Given the description of an element on the screen output the (x, y) to click on. 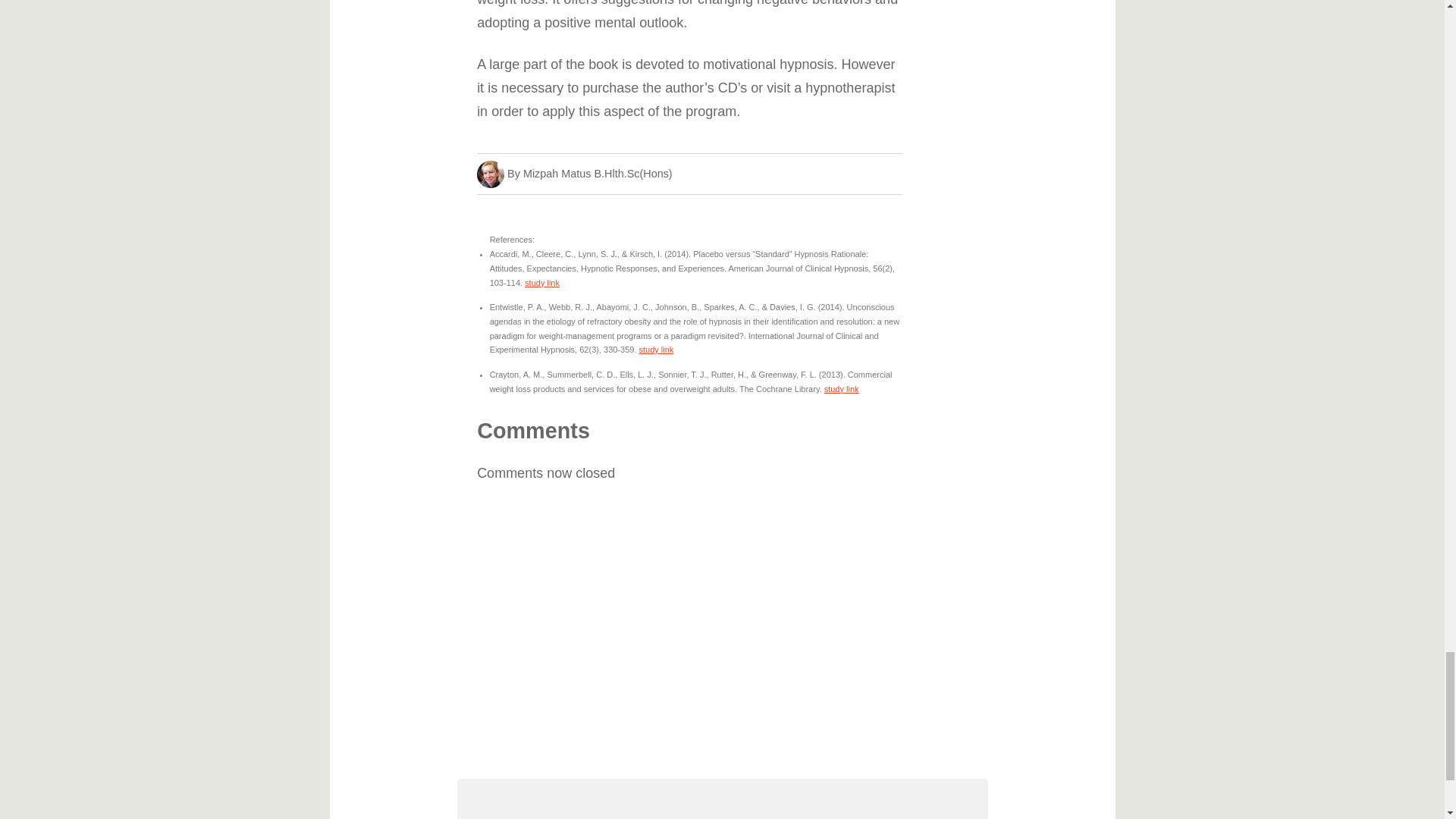
study link (656, 348)
study link (841, 388)
study link (541, 282)
